Given the description of an element on the screen output the (x, y) to click on. 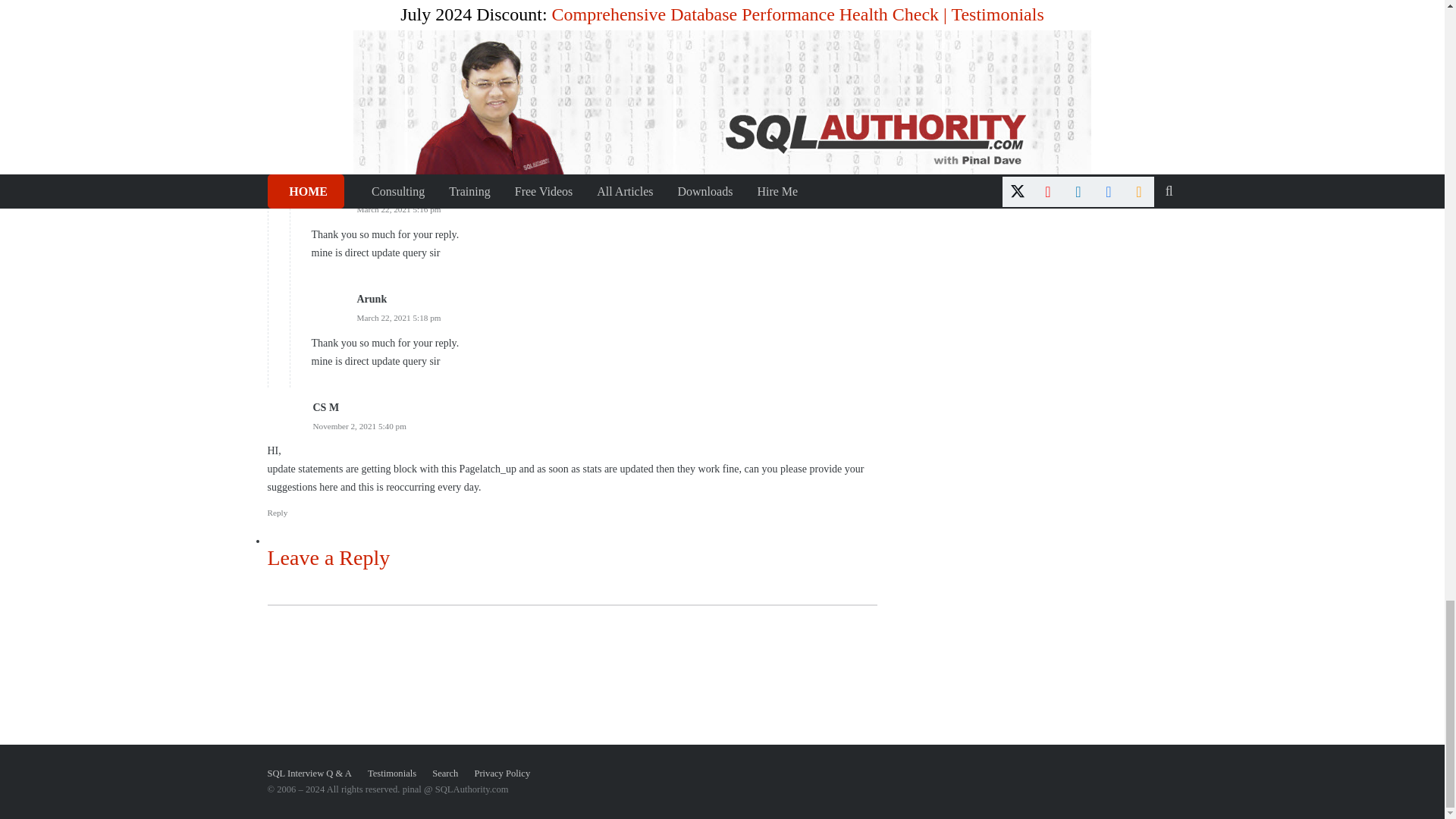
March 22, 2021 5:18 pm (398, 317)
November 2, 2021 5:40 pm (359, 425)
March 22, 2021 5:16 pm (398, 208)
March 22, 2021 3:30 pm (376, 101)
